Given the description of an element on the screen output the (x, y) to click on. 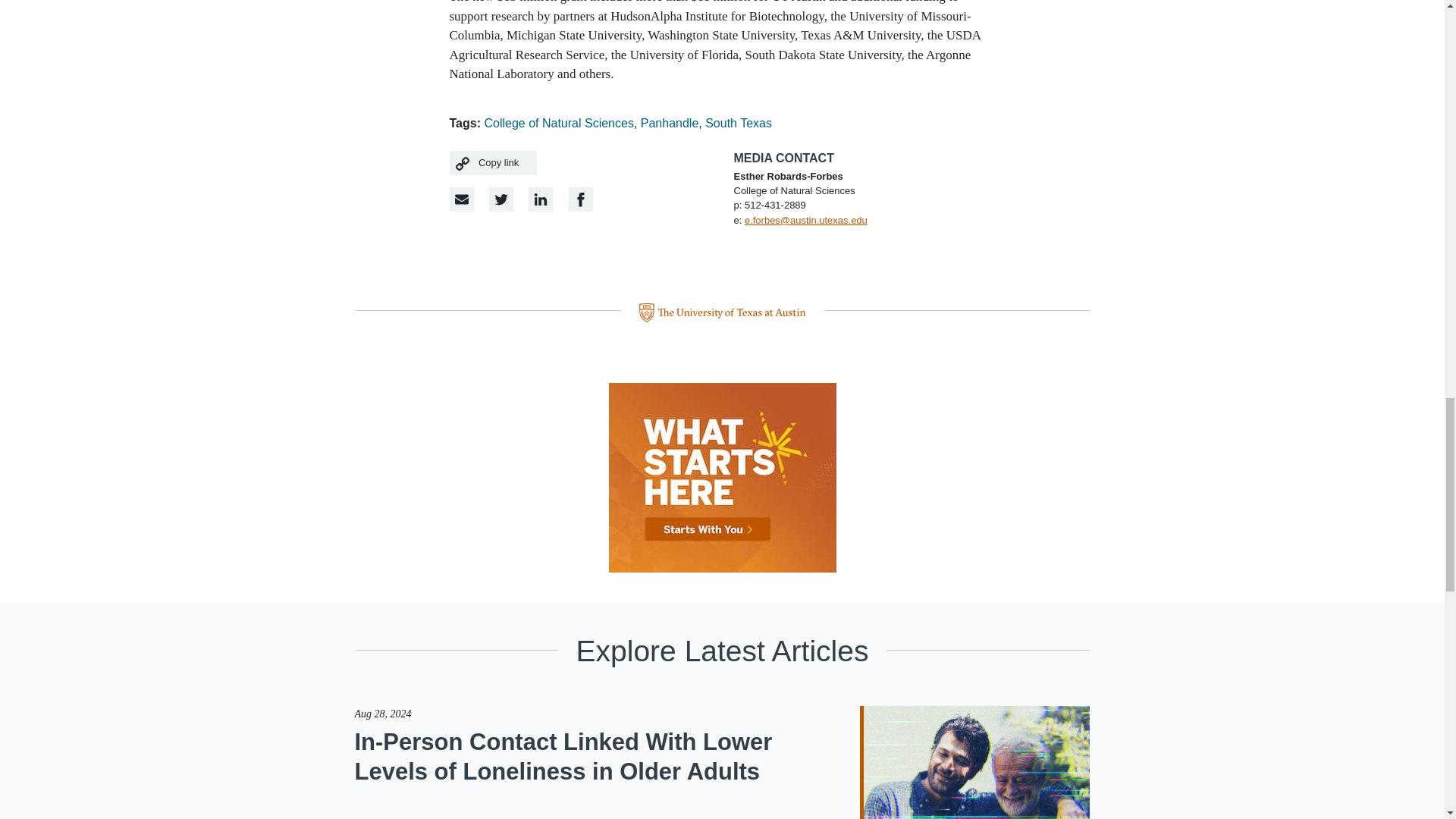
College of Natural Sciences (558, 123)
Panhandle (669, 123)
South Texas (737, 123)
